Given the description of an element on the screen output the (x, y) to click on. 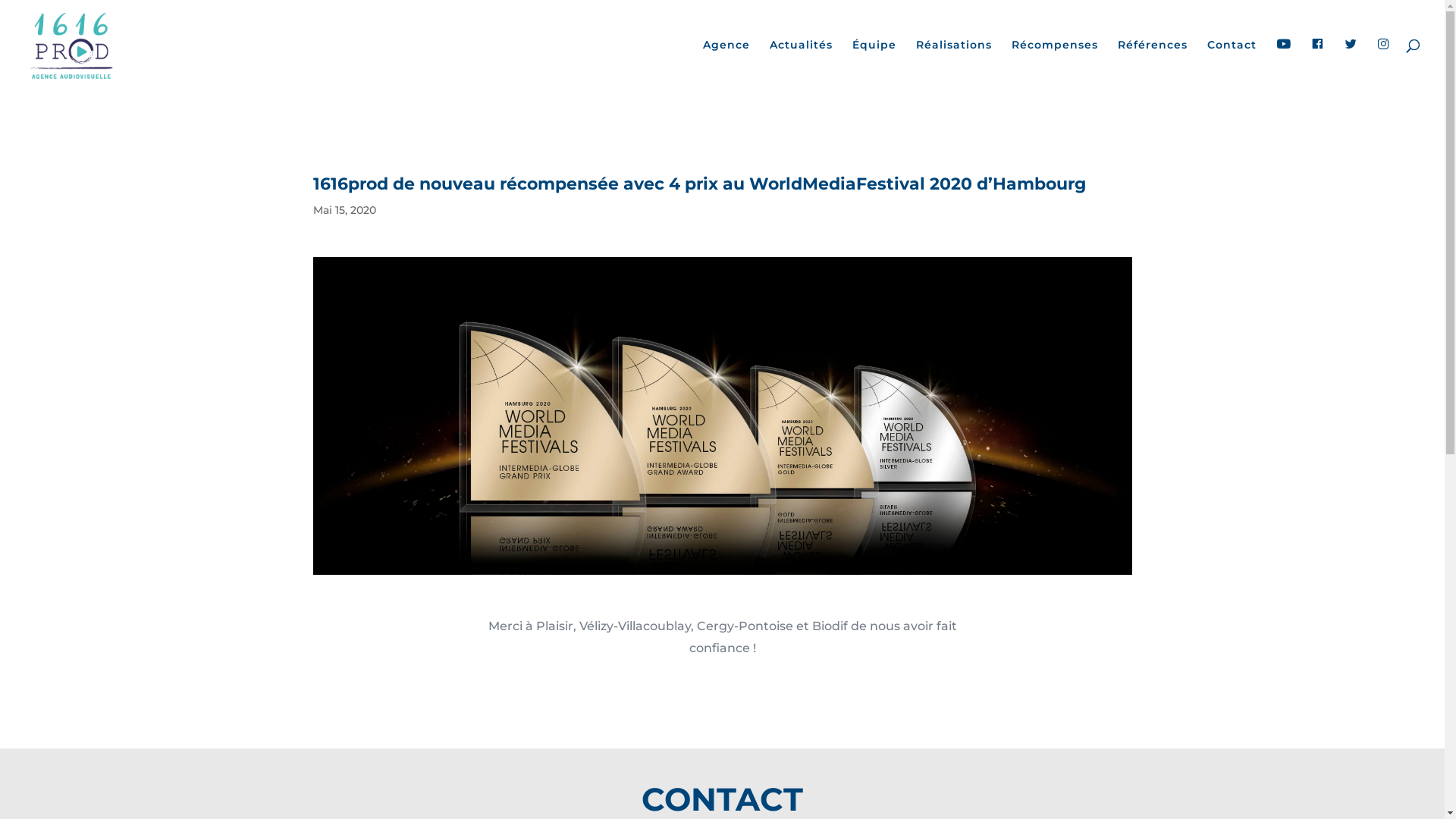
Twitter Element type: text (1351, 64)
Agence Element type: text (725, 64)
Facebook Element type: text (1317, 64)
Contact Element type: text (1231, 64)
worldmediafestival-awards-2020 Element type: hover (721, 415)
Youtube Element type: text (1283, 64)
Instagram Element type: text (1383, 64)
